Given the description of an element on the screen output the (x, y) to click on. 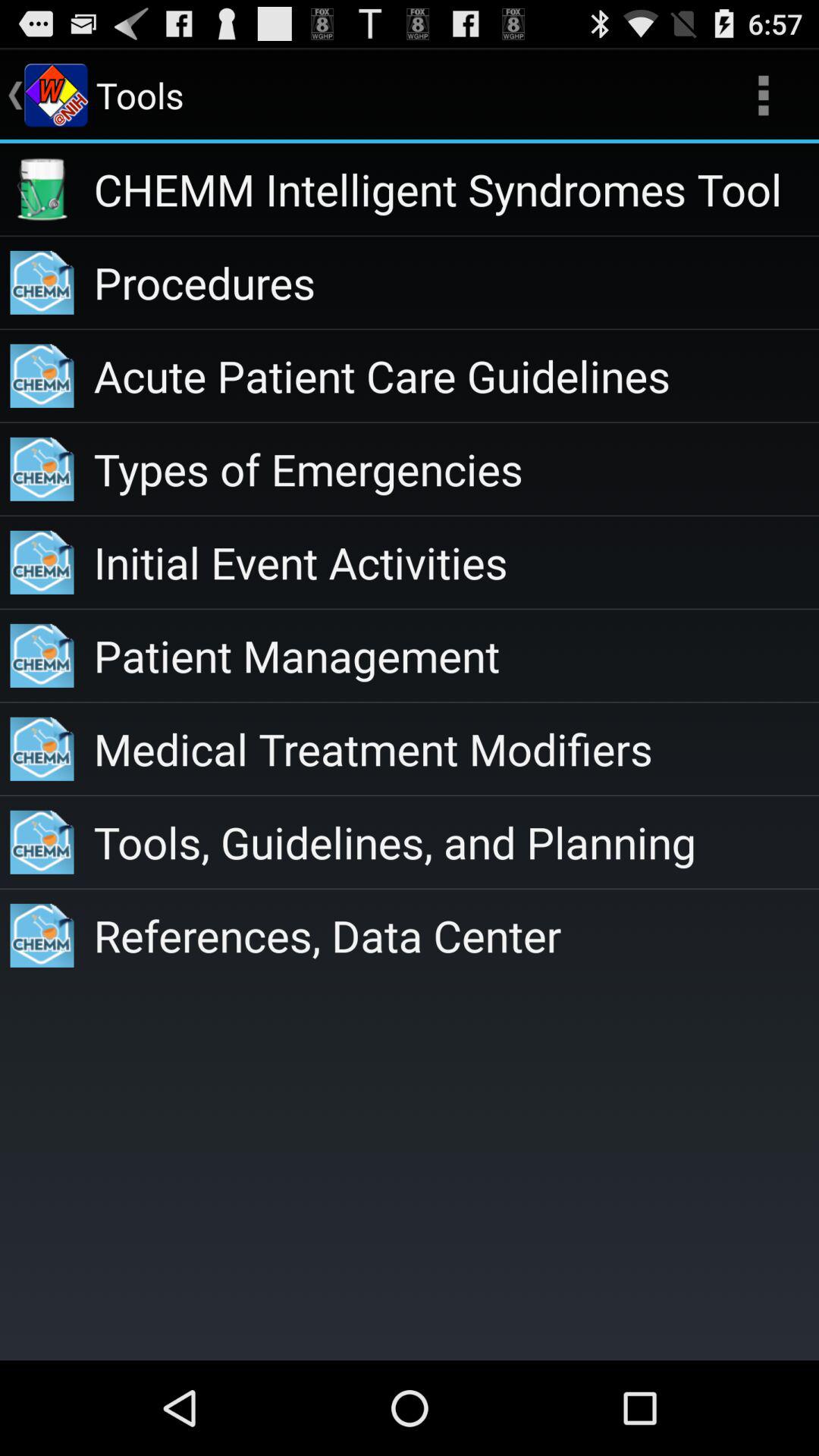
scroll until the medical treatment modifiers app (456, 748)
